Given the description of an element on the screen output the (x, y) to click on. 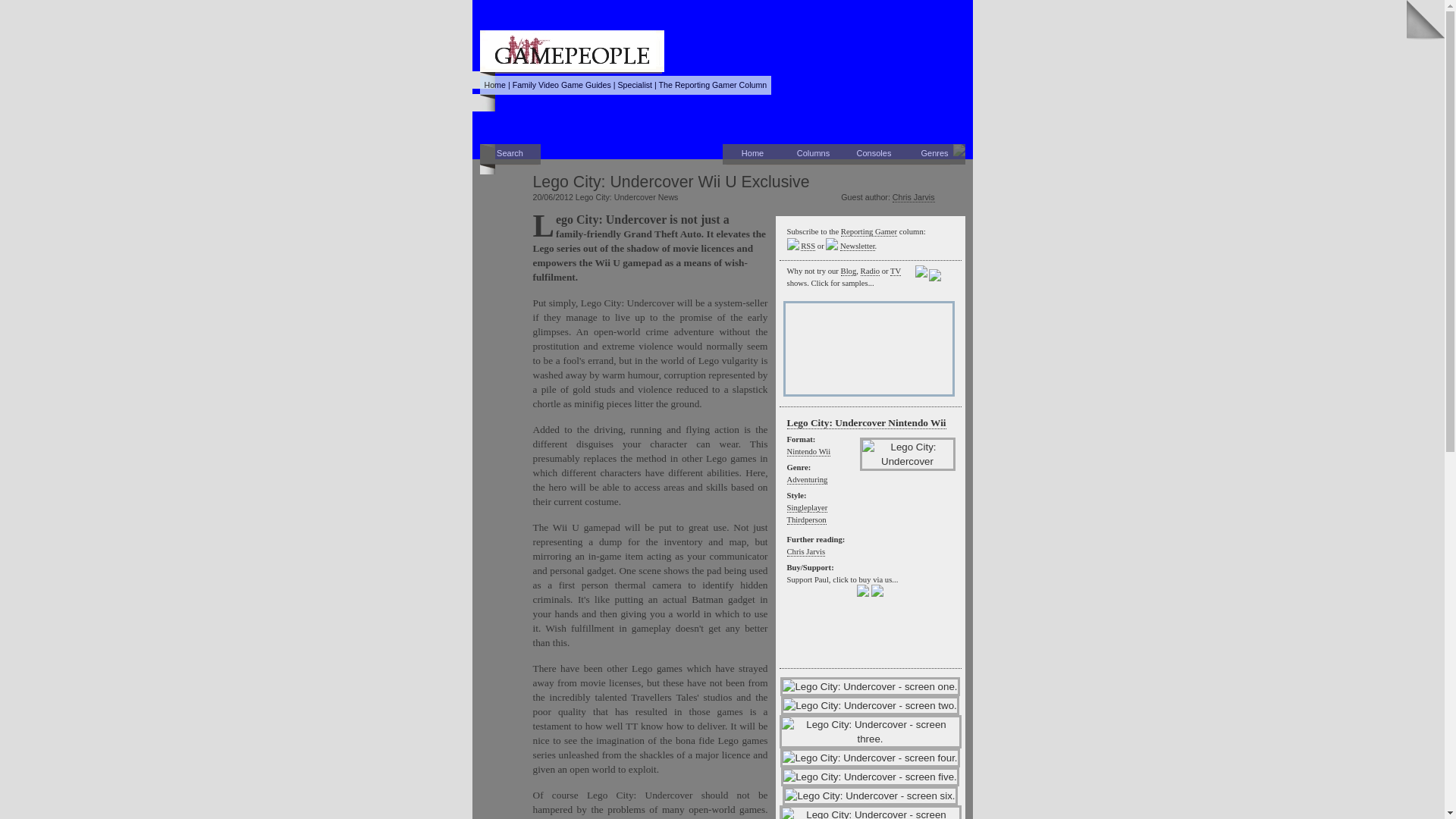
Play-style (807, 519)
Lego City: Undercover - screen three. (869, 731)
Lego City: Undercover - screen four. (869, 757)
Play-style (807, 507)
Breadcrumb Trail (625, 85)
Lego City: Undercover - screen five. (869, 776)
Group (634, 84)
Home (752, 154)
Columns (813, 154)
Lego City: Undercover - screen two. (869, 705)
